Given the description of an element on the screen output the (x, y) to click on. 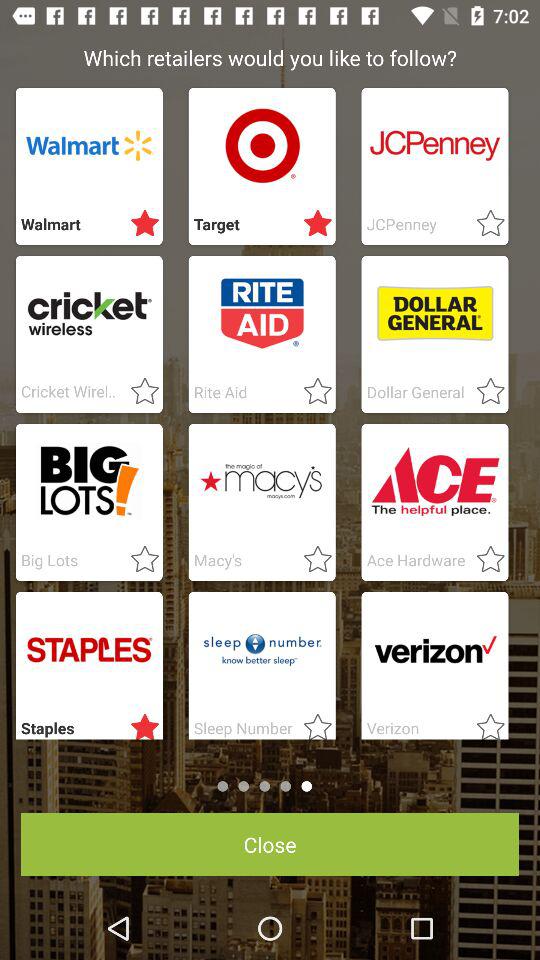
faverad (139, 723)
